Given the description of an element on the screen output the (x, y) to click on. 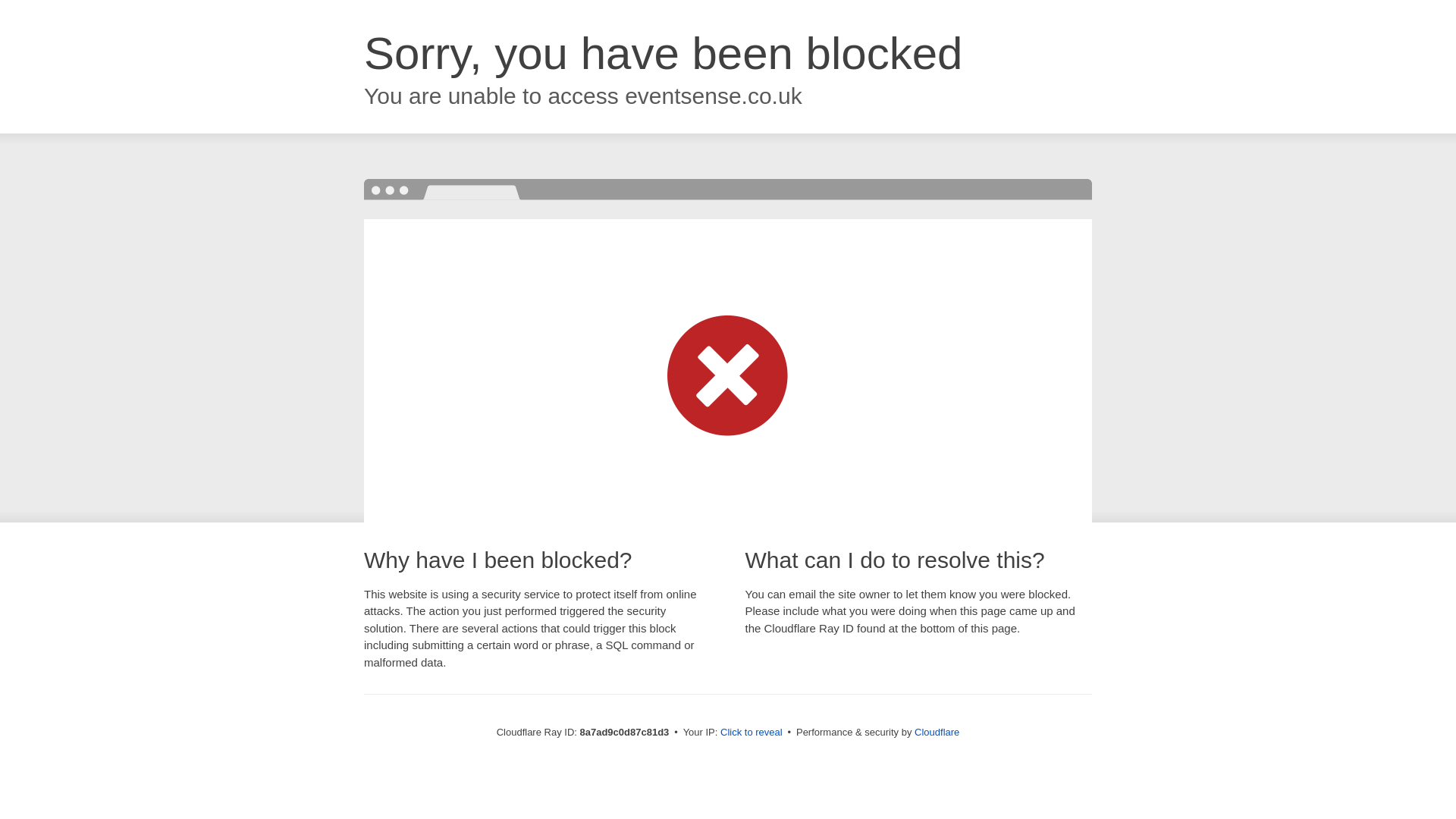
Click to reveal (751, 732)
Cloudflare (936, 731)
